Given the description of an element on the screen output the (x, y) to click on. 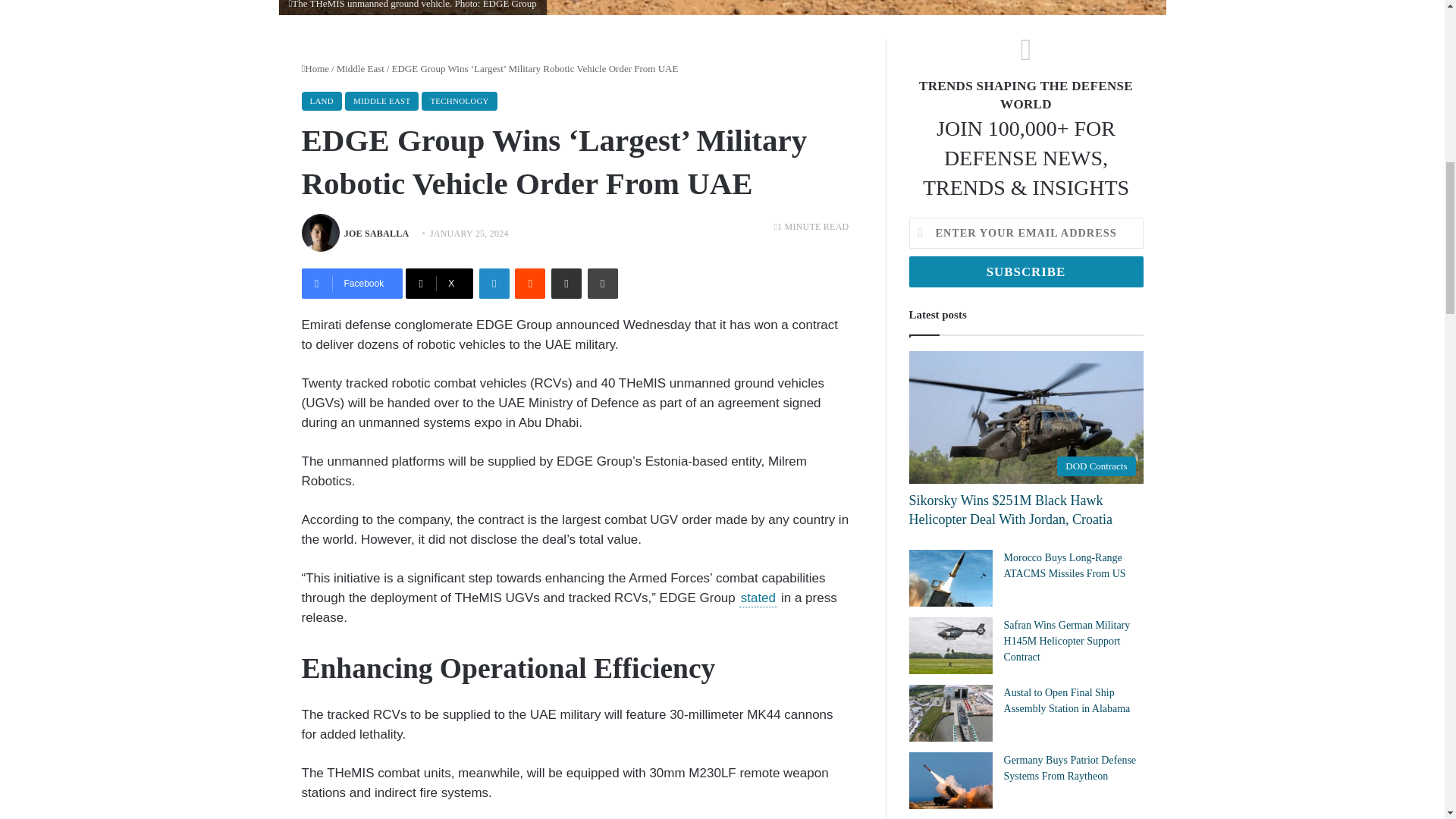
X (439, 283)
Home (315, 68)
Middle East (360, 68)
Joe Saballa (376, 233)
Share via Email (565, 283)
LAND (321, 100)
JOE SABALLA (376, 233)
X (439, 283)
Print (602, 283)
MIDDLE EAST (382, 100)
Subscribe (1025, 271)
TECHNOLOGY (459, 100)
Reddit (529, 283)
LinkedIn (494, 283)
Facebook (352, 283)
